Given the description of an element on the screen output the (x, y) to click on. 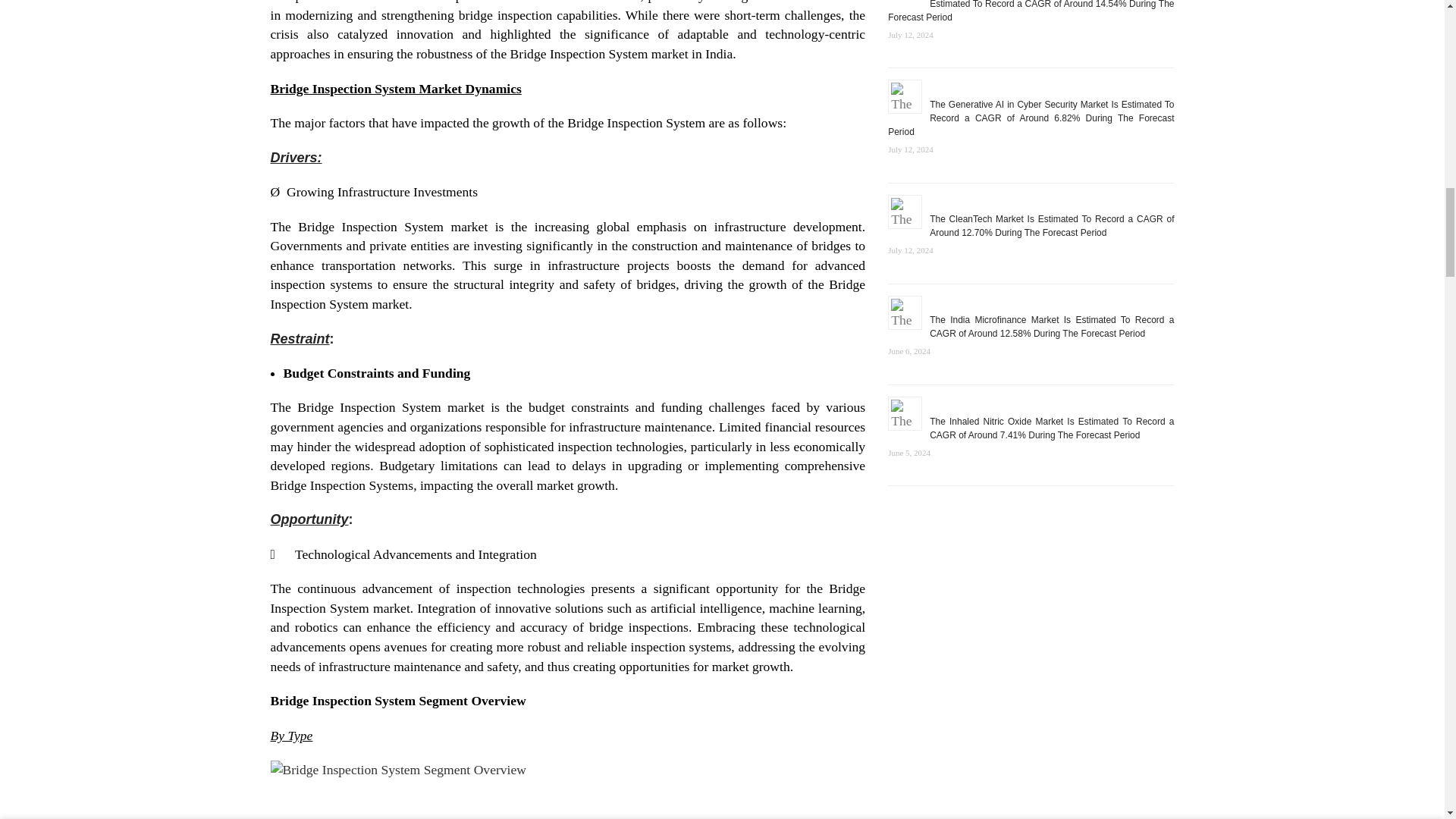
Bridge Inspection System Segment Overview (566, 789)
